Given the description of an element on the screen output the (x, y) to click on. 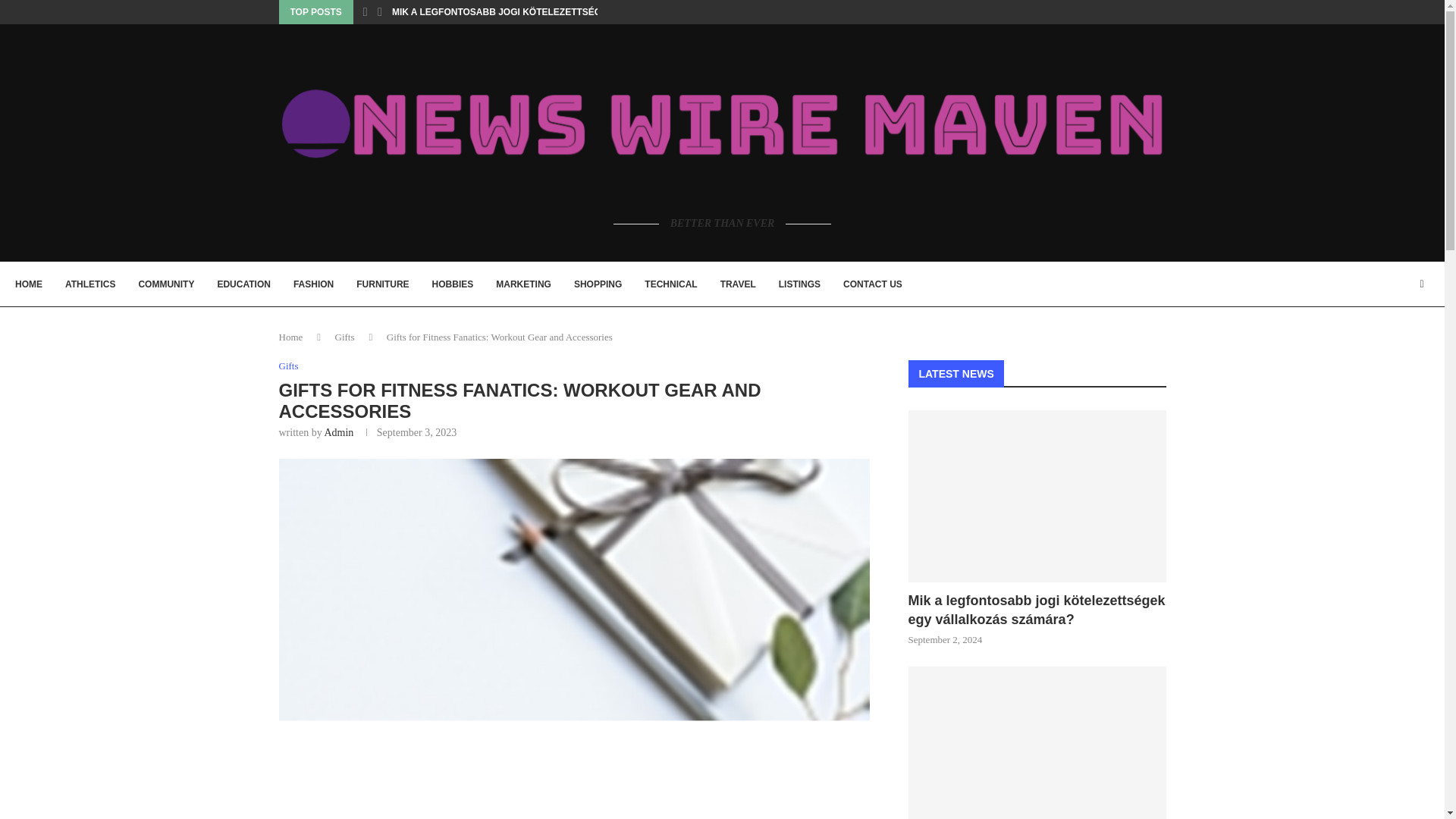
TECHNICAL (671, 284)
ATHLETICS (90, 284)
Home (290, 337)
COMMUNITY (165, 284)
CONTACT US (872, 284)
FURNITURE (382, 284)
MARKETING (523, 284)
LISTINGS (799, 284)
The Top 10 Must-See Sights in Georgia (1037, 742)
SHOPPING (597, 284)
